Given the description of an element on the screen output the (x, y) to click on. 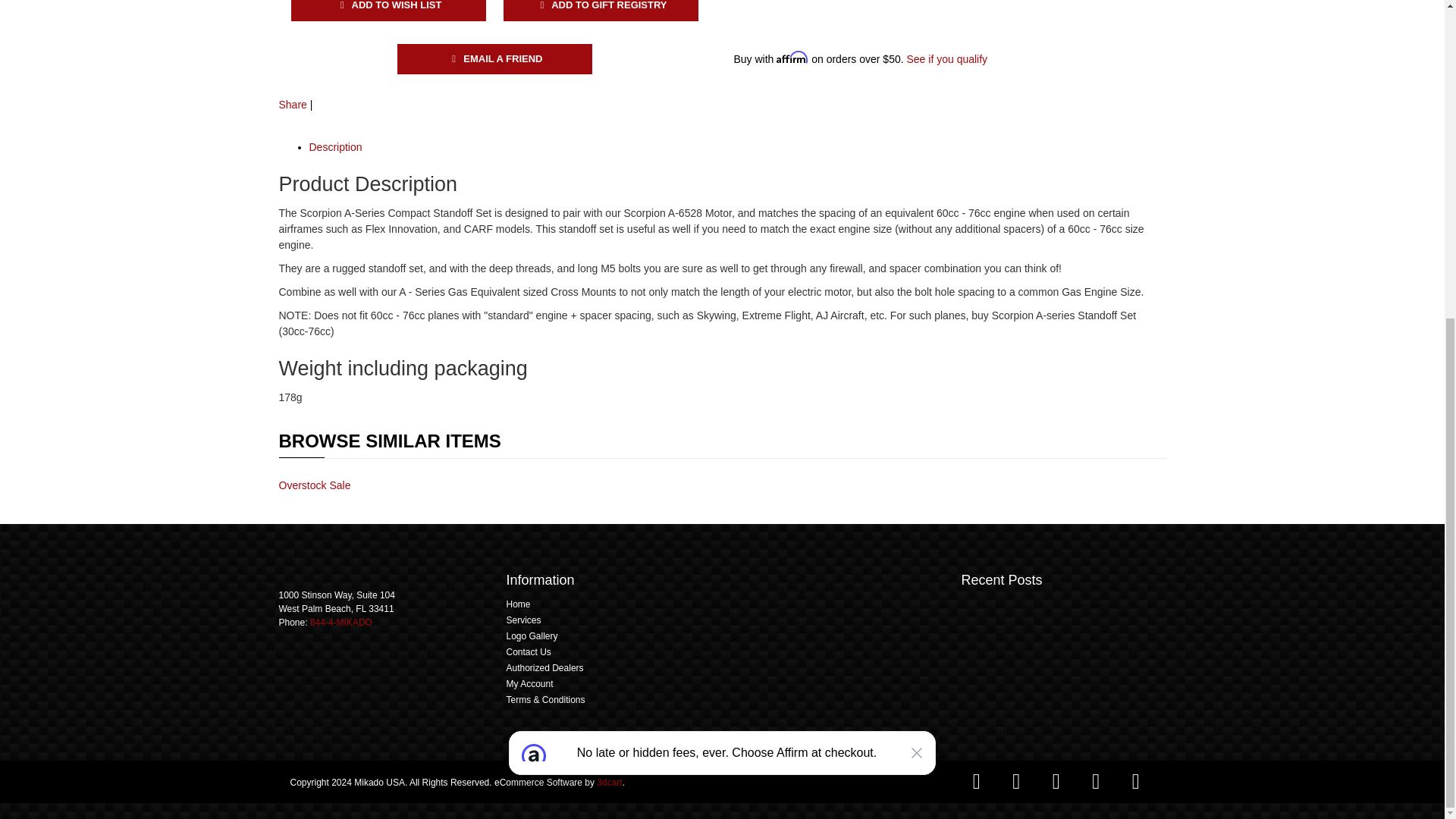
PayPal Message 1 (828, 31)
Affirm (721, 260)
PayPal (828, 7)
